Given the description of an element on the screen output the (x, y) to click on. 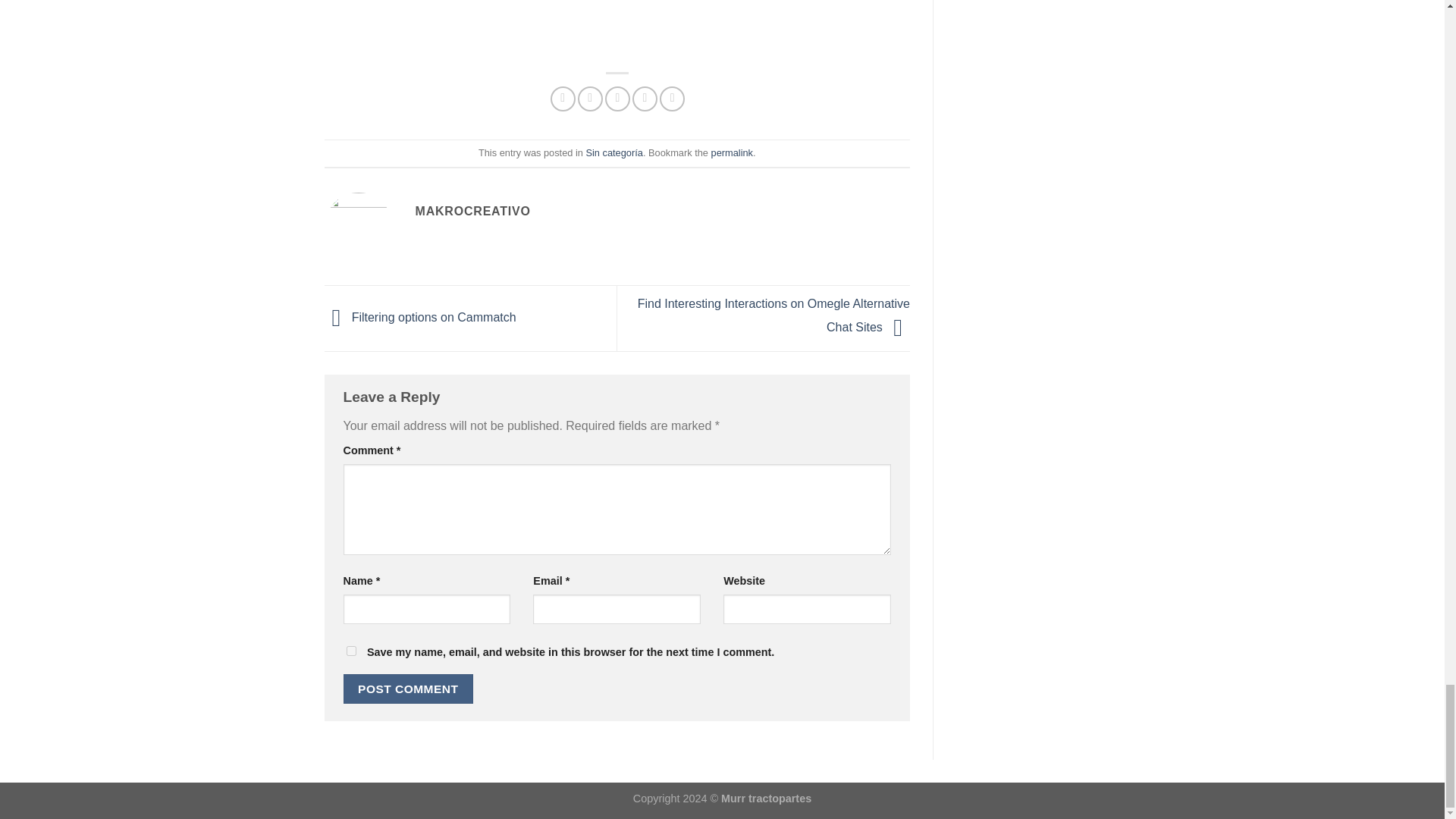
Permalink to Filtering options on Omegle (731, 152)
Share on Facebook (562, 98)
Share on Twitter (590, 98)
yes (350, 651)
Email to a Friend (617, 98)
Share on LinkedIn (671, 98)
Pin on Pinterest (644, 98)
Filtering options on Cammatch (420, 317)
Post Comment (407, 688)
Post Comment (407, 688)
permalink (731, 152)
